Given the description of an element on the screen output the (x, y) to click on. 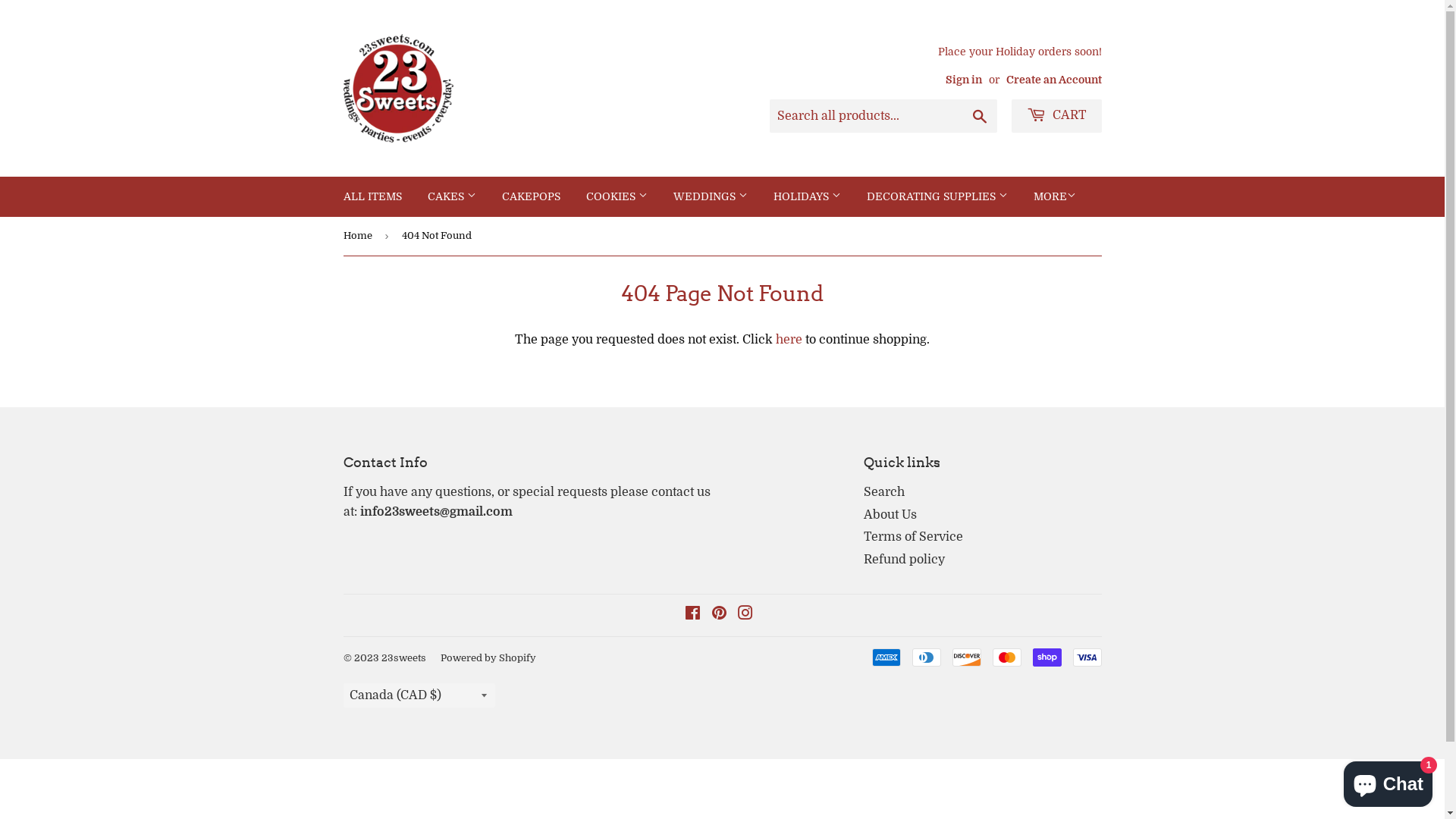
Create an Account Element type: text (1053, 79)
Sign in Element type: text (962, 79)
CART Element type: text (1056, 115)
Home Element type: text (359, 235)
HOLIDAYS Element type: text (806, 196)
COOKIES Element type: text (616, 196)
Facebook Element type: text (691, 614)
WEDDINGS Element type: text (709, 196)
Powered by Shopify Element type: text (487, 657)
CAKES Element type: text (450, 196)
Terms of Service Element type: text (913, 536)
Instagram Element type: text (744, 614)
Shopify online store chat Element type: hover (1388, 780)
23sweets Element type: text (402, 657)
Refund policy Element type: text (903, 559)
MORE Element type: text (1054, 196)
About Us Element type: text (889, 514)
Pinterest Element type: text (719, 614)
Search Element type: text (980, 116)
CAKEPOPS Element type: text (530, 196)
DECORATING SUPPLIES Element type: text (937, 196)
Search Element type: text (883, 491)
here Element type: text (788, 339)
info23sweets@gmail.com Element type: text (435, 511)
ALL ITEMS Element type: text (372, 196)
